Given the description of an element on the screen output the (x, y) to click on. 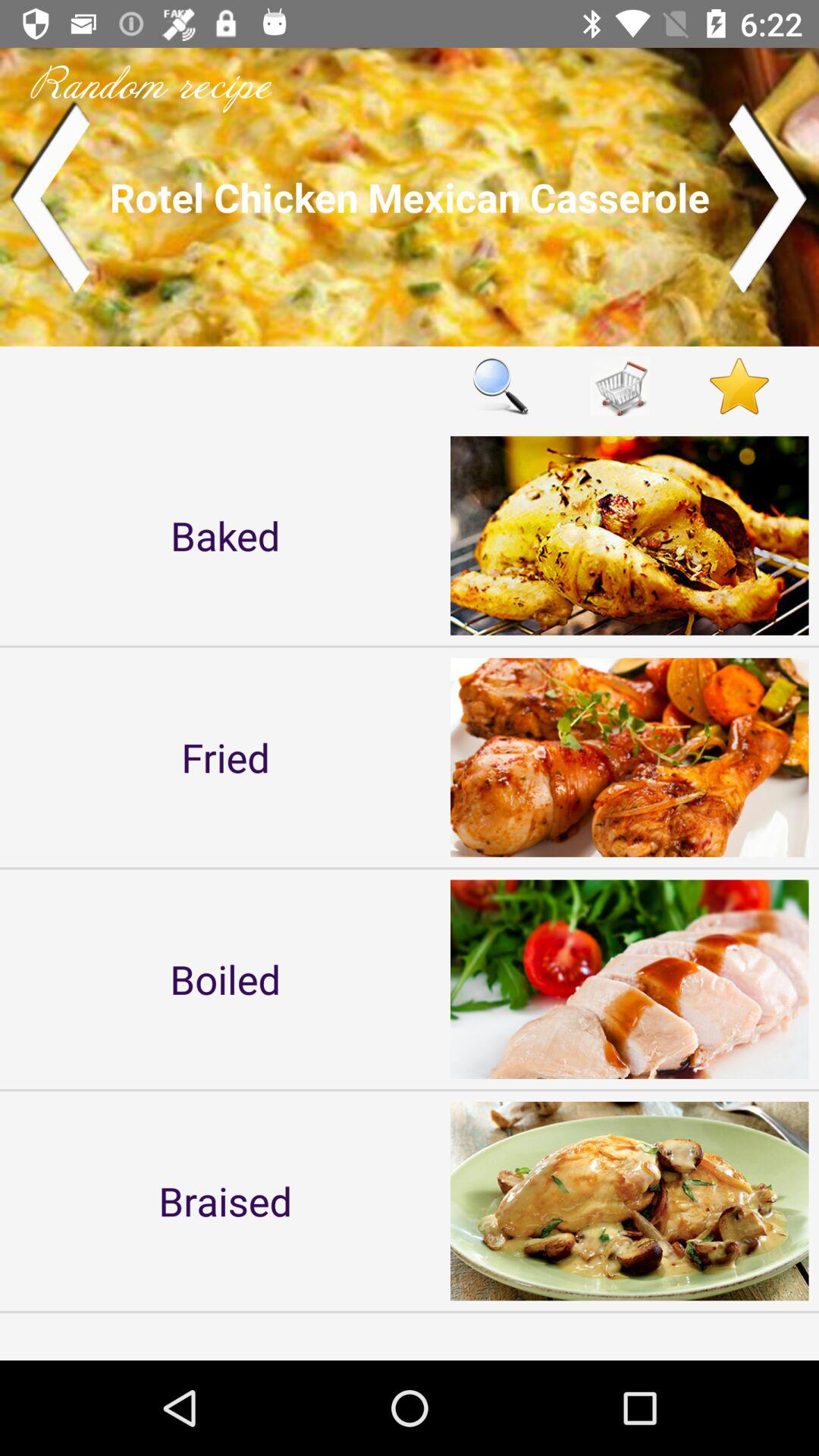
scroll until the fried (225, 756)
